Given the description of an element on the screen output the (x, y) to click on. 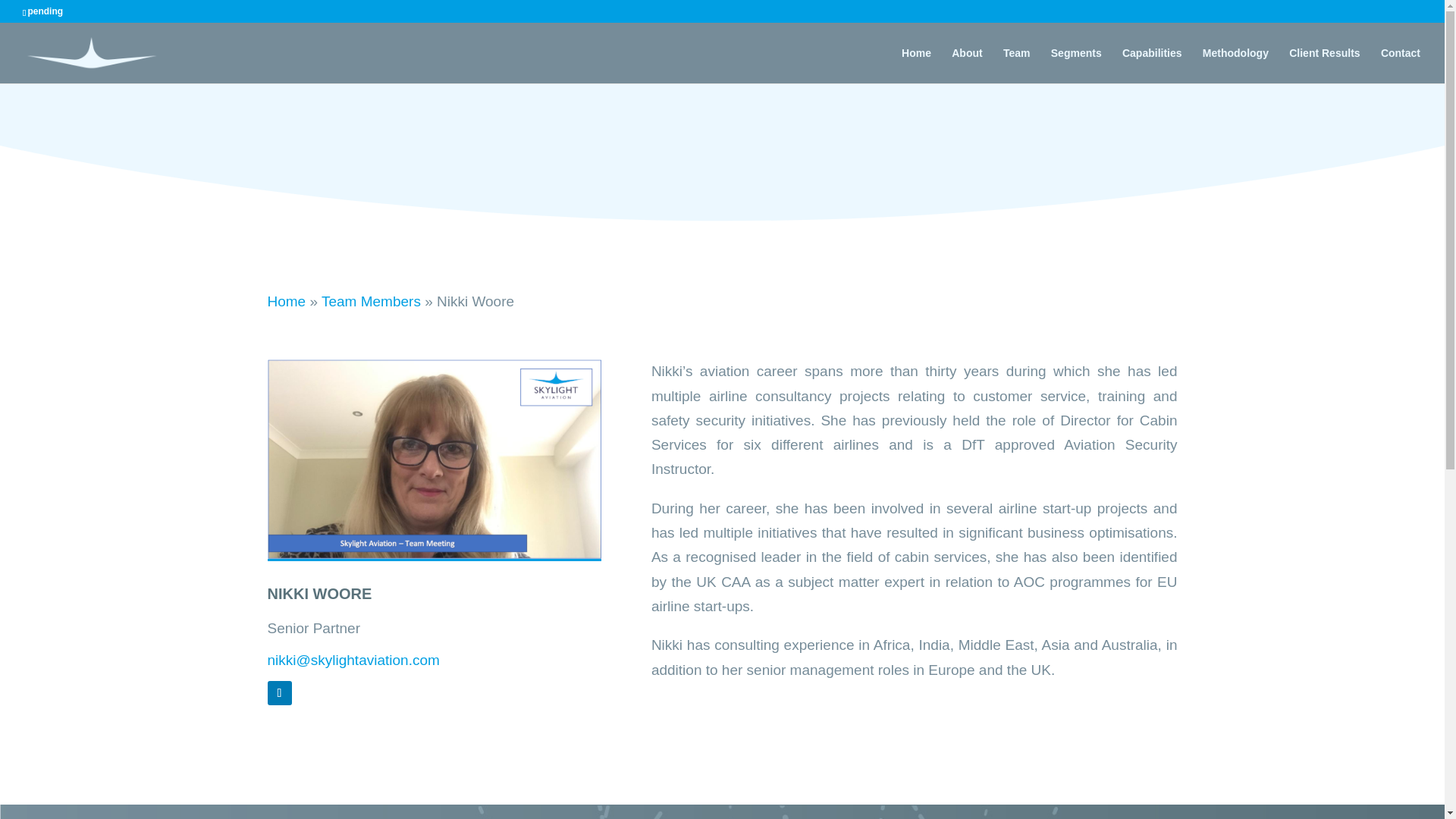
Client Results (1323, 65)
Contact (1400, 65)
Methodology (1235, 65)
Segments (1076, 65)
Home (285, 301)
Follow on LinkedIn (278, 692)
Team Members (370, 301)
Capabilities (1152, 65)
